Given the description of an element on the screen output the (x, y) to click on. 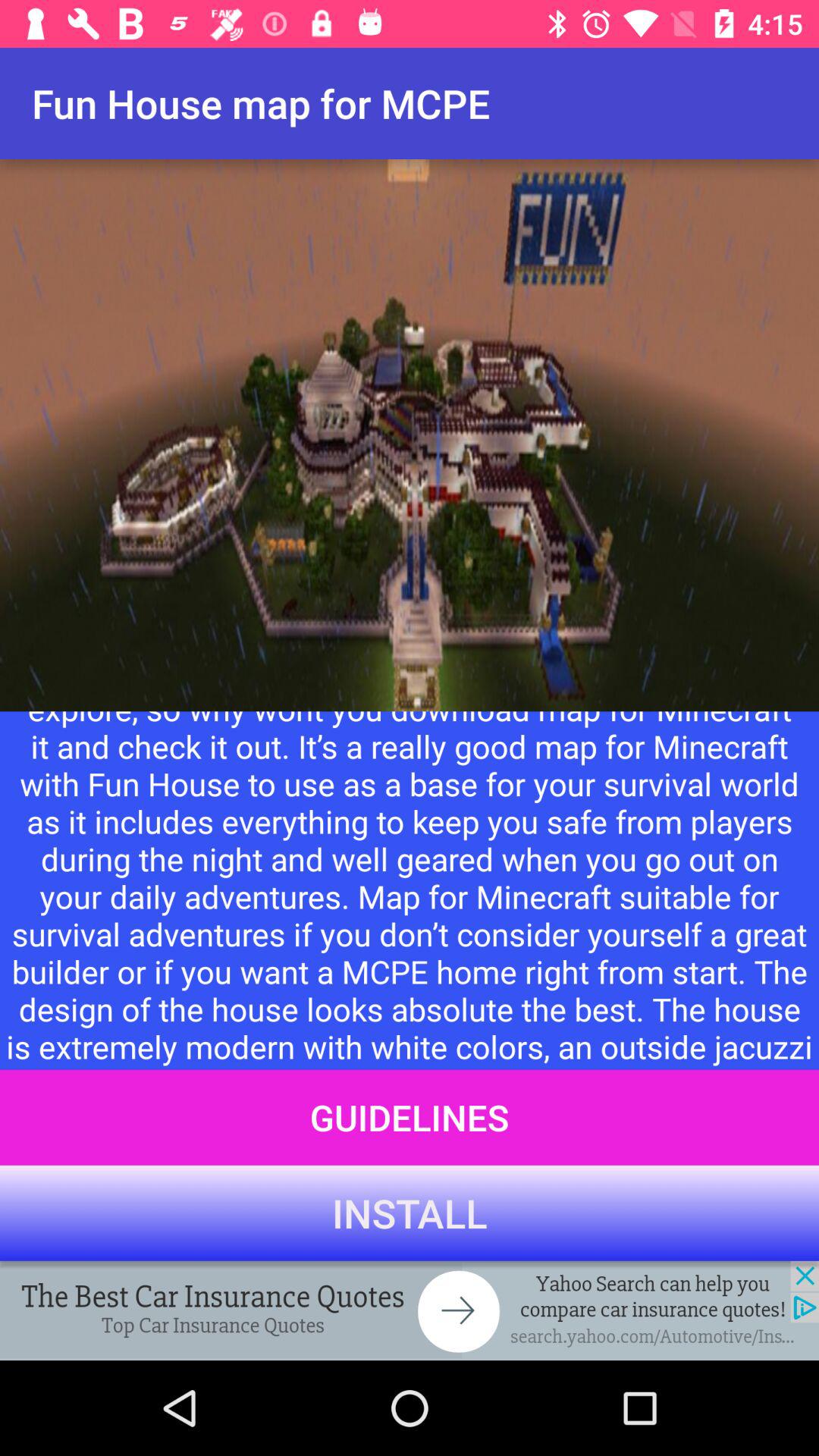
select advertisement link (409, 1310)
